Given the description of an element on the screen output the (x, y) to click on. 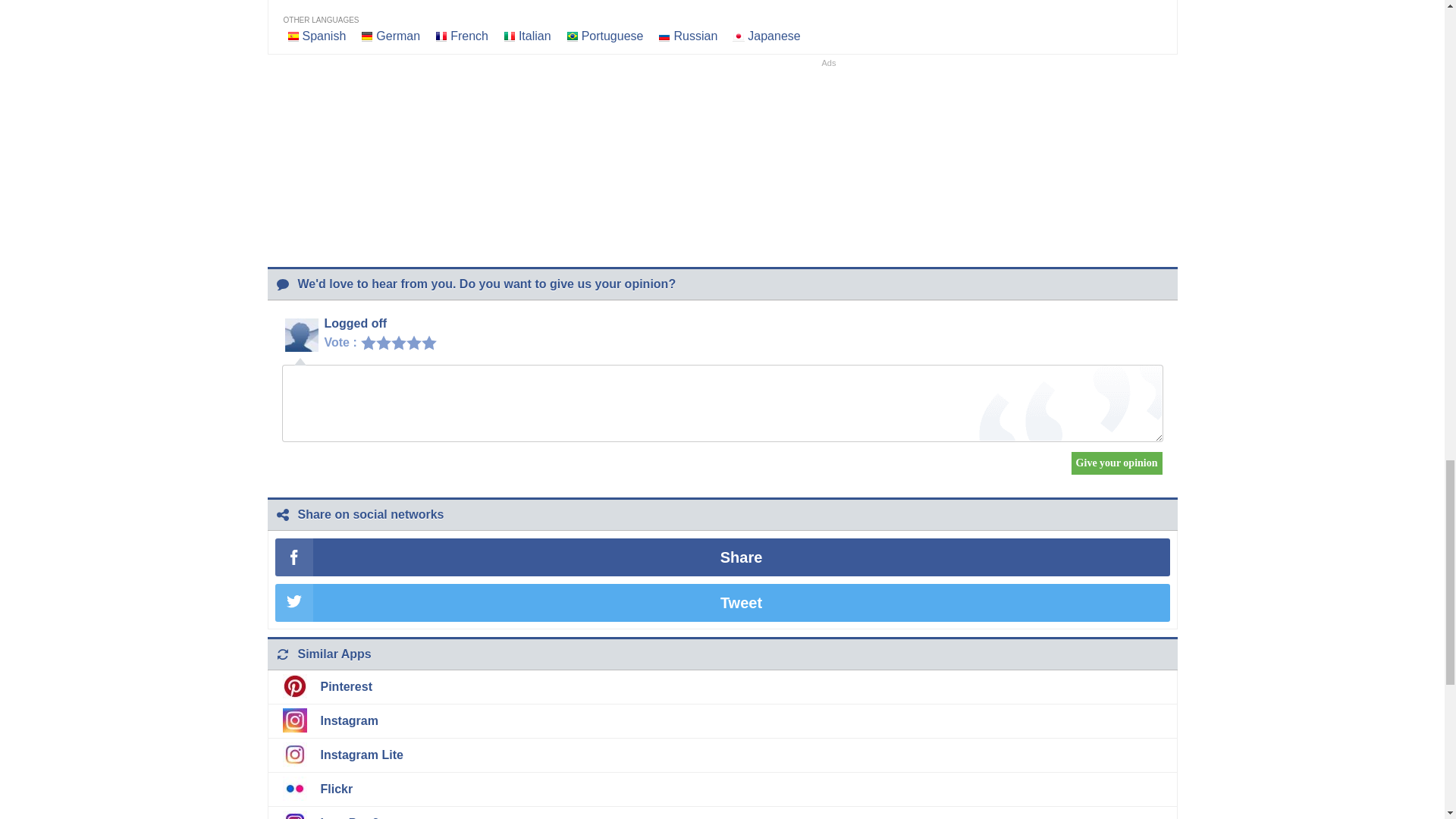
Give your opinion (1116, 463)
French (468, 35)
German (397, 35)
Spanish (323, 35)
Portuguese (611, 35)
Russian (694, 35)
Italian (534, 35)
Japanese (773, 35)
